Given the description of an element on the screen output the (x, y) to click on. 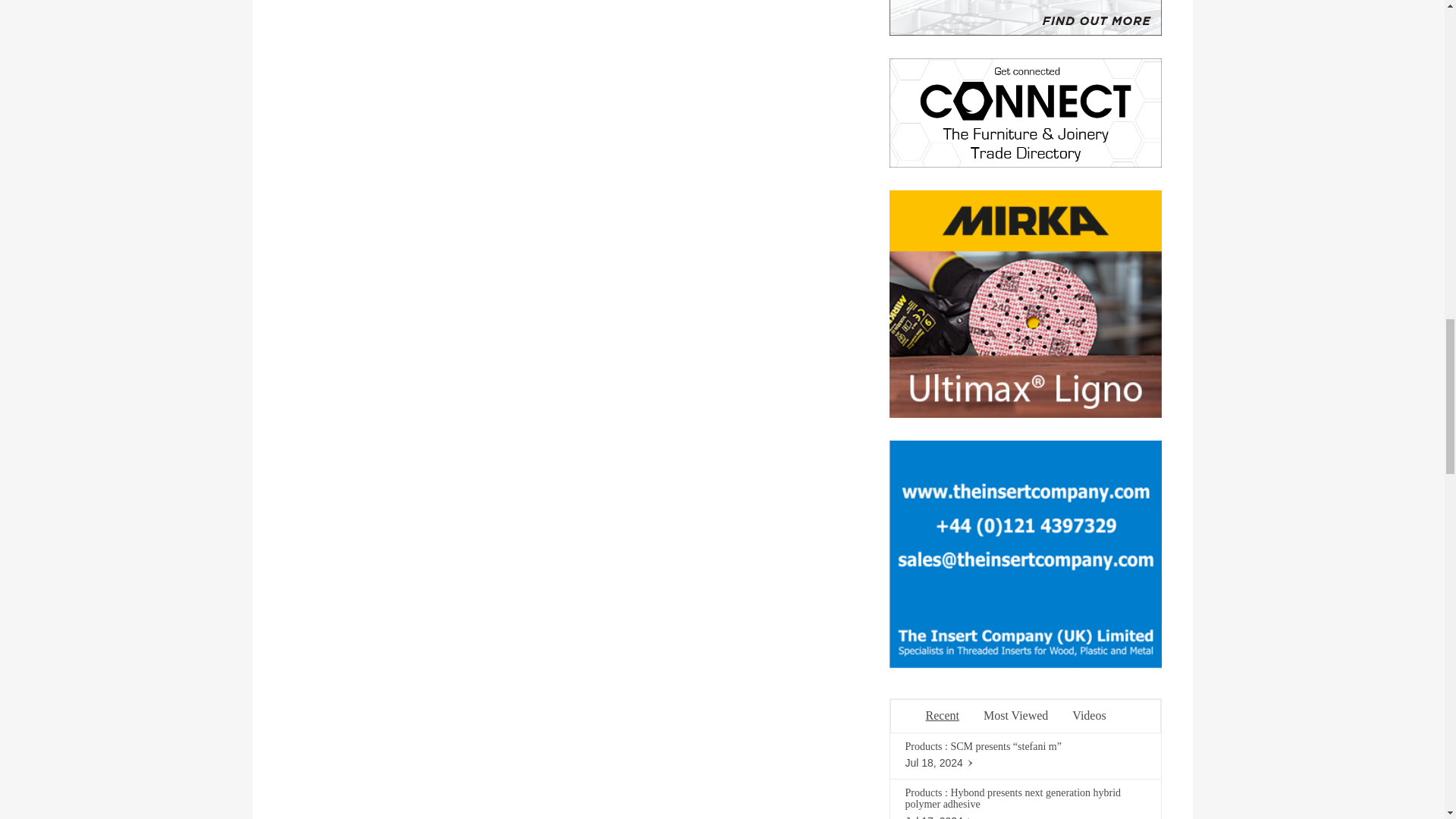
Hybond presents next generation hybrid polymer adhesive (1013, 798)
